Given the description of an element on the screen output the (x, y) to click on. 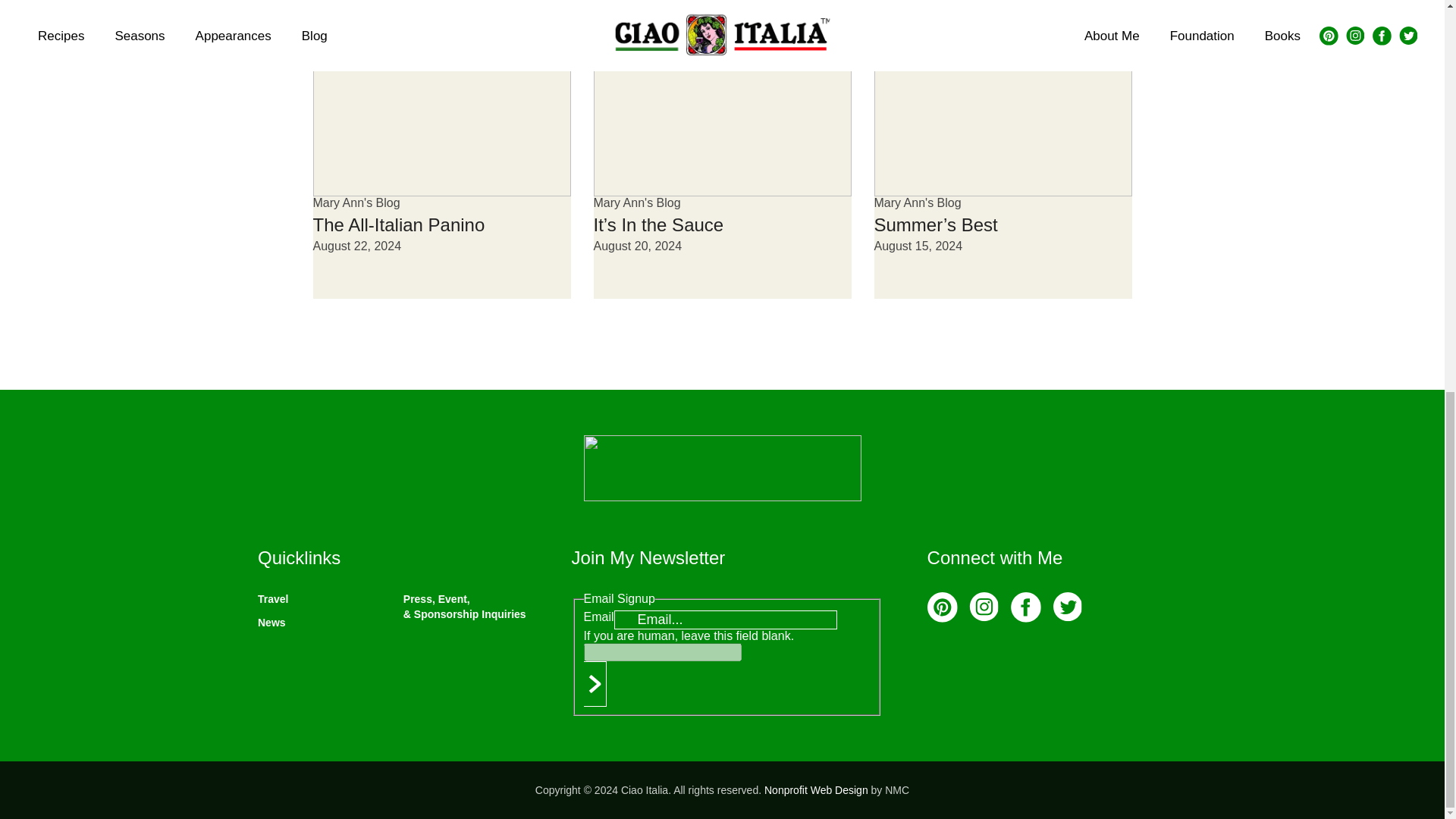
Travel (272, 598)
News (271, 622)
Nonprofit Web Design (815, 789)
The All-Italian Panino (398, 224)
